Given the description of an element on the screen output the (x, y) to click on. 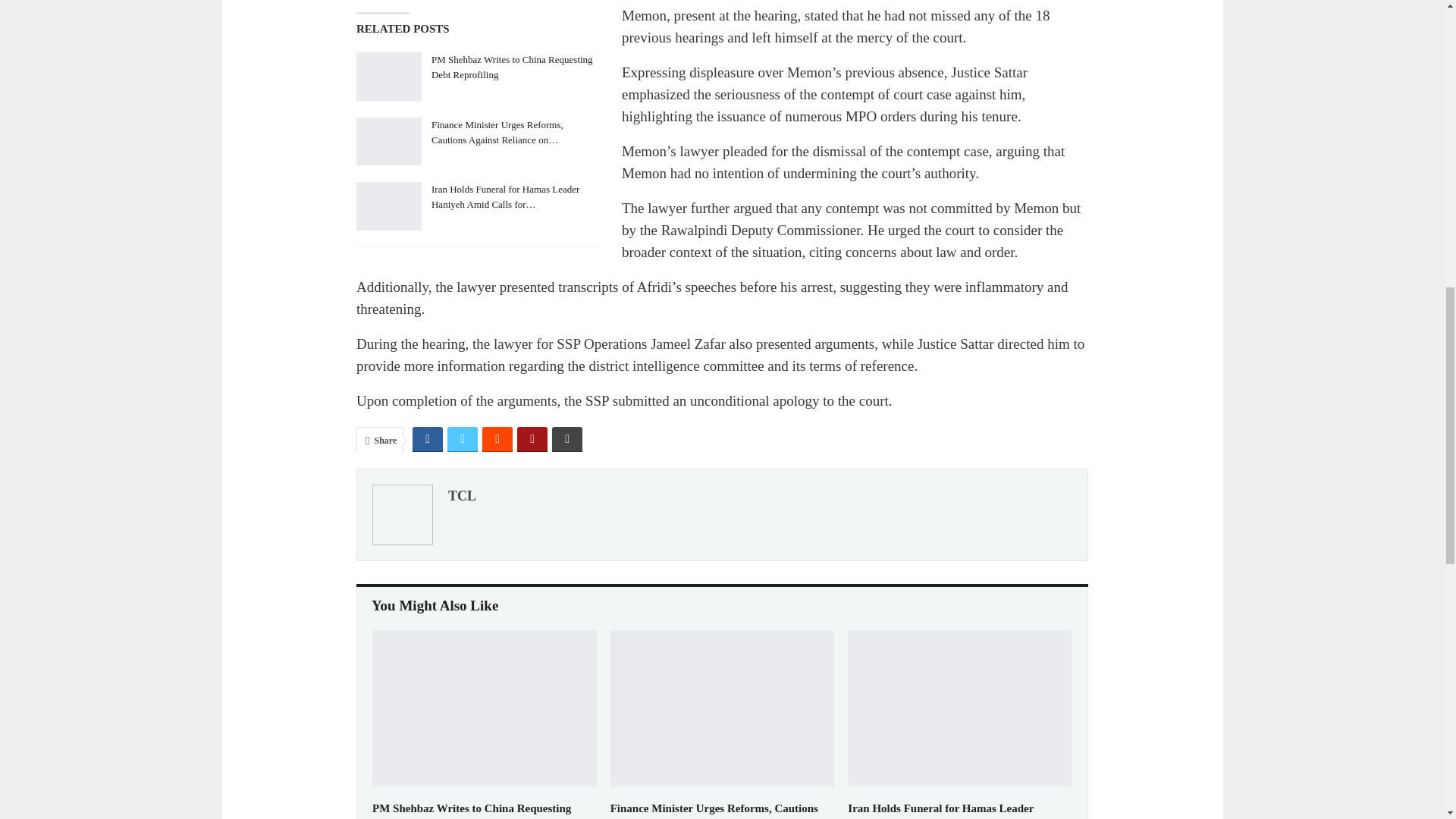
PM Shehbaz Writes to China Requesting Debt Reprofiling (471, 810)
PM Shehbaz Writes to China Requesting Debt Reprofiling (389, 76)
PM Shehbaz Writes to China Requesting Debt Reprofiling (484, 708)
